Given the description of an element on the screen output the (x, y) to click on. 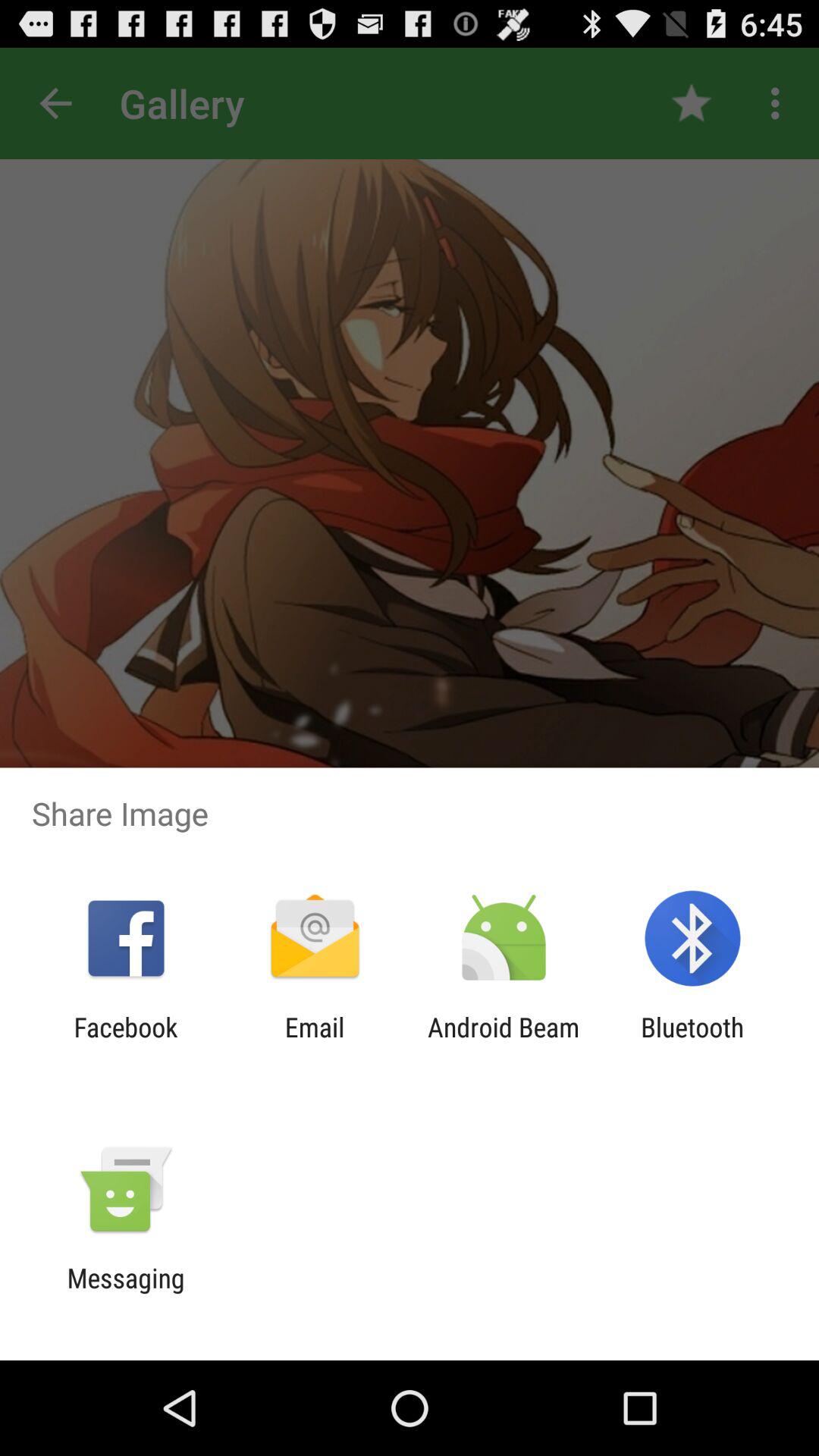
scroll until the bluetooth app (691, 1042)
